Given the description of an element on the screen output the (x, y) to click on. 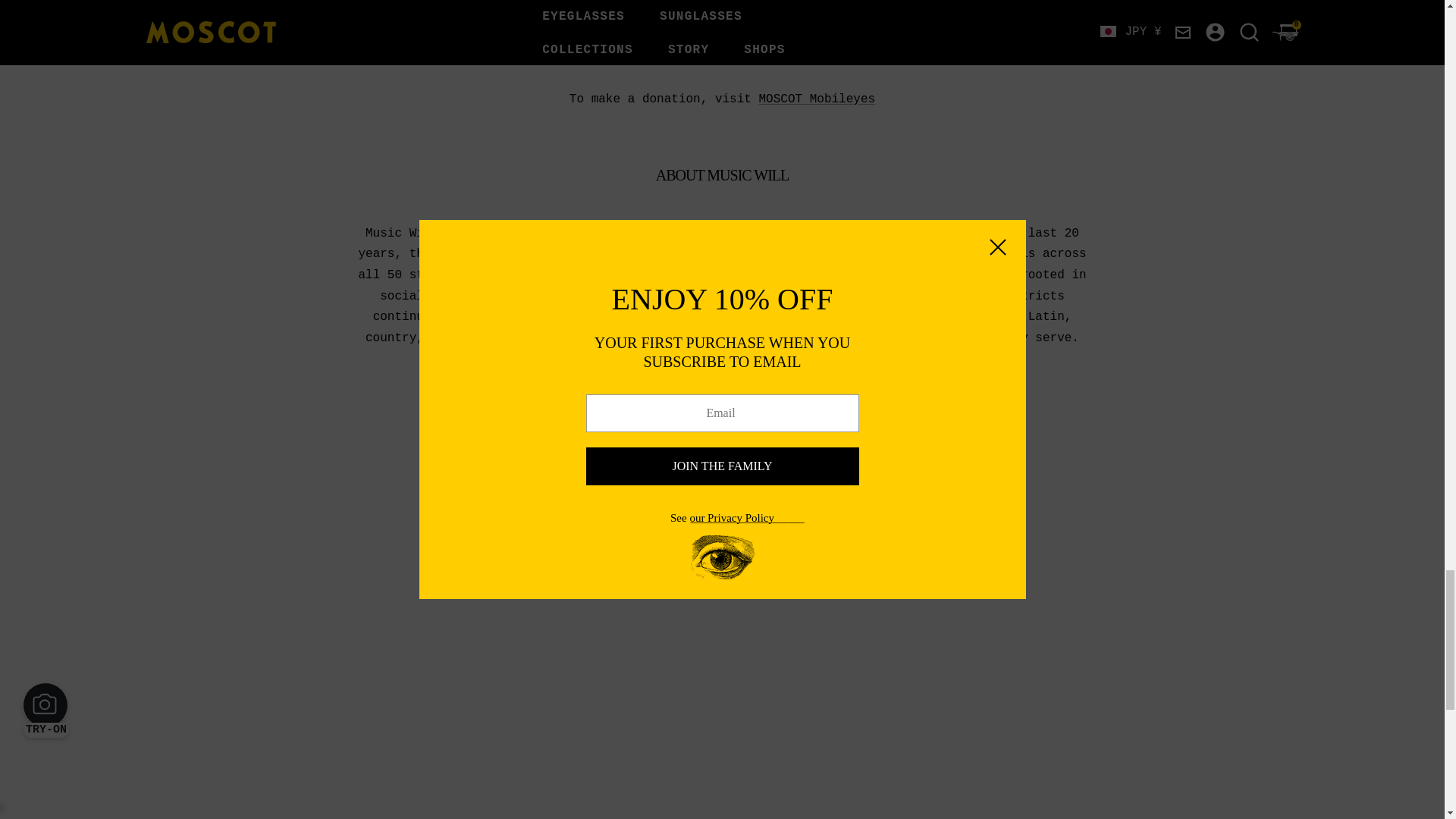
Visit Music Will to learn more (797, 400)
Donate to MOSCOT Mobileyes (816, 99)
share (832, 460)
